Given the description of an element on the screen output the (x, y) to click on. 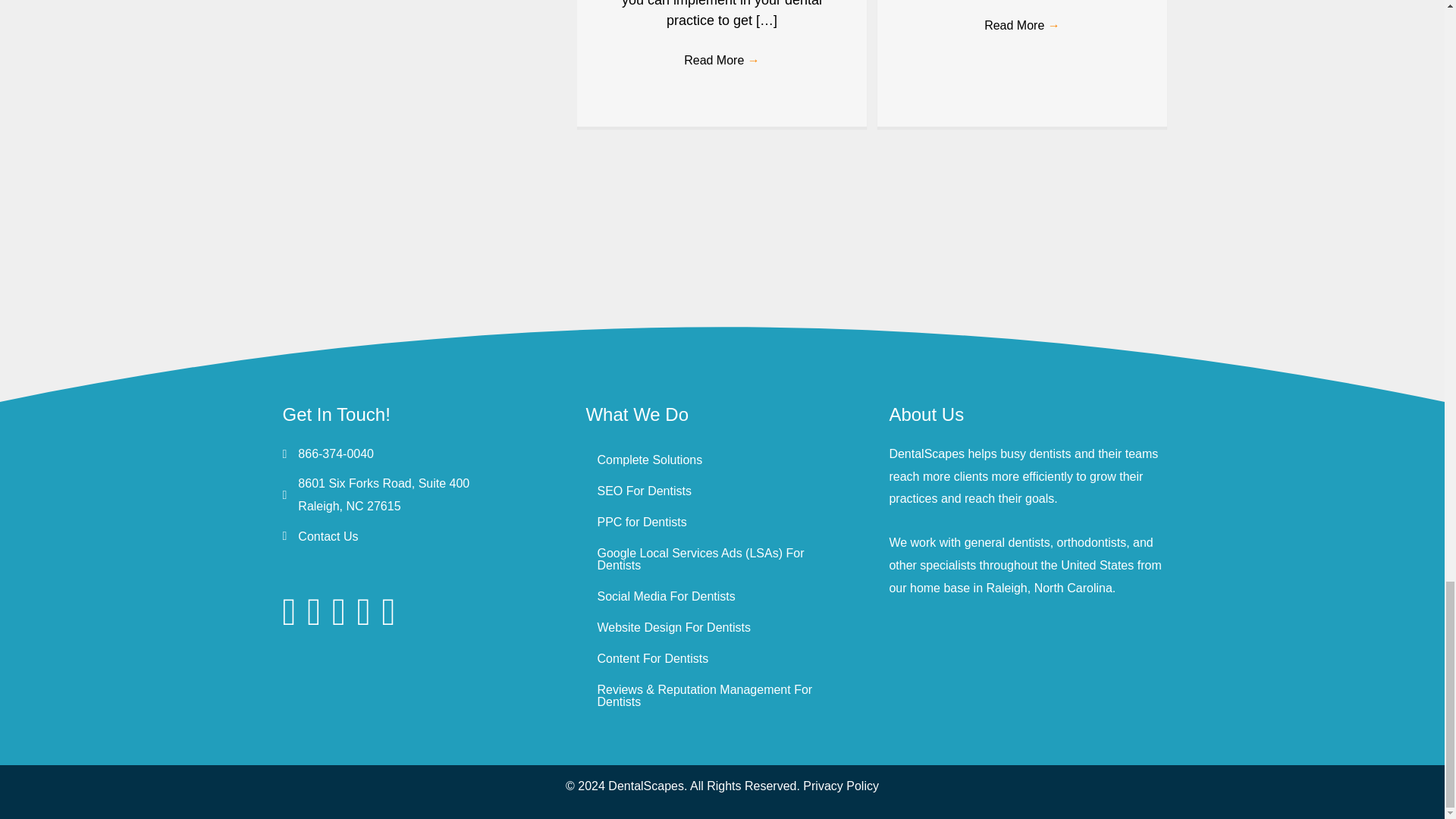
image (357, 244)
Top-Marketing-Agencies-Logo-PNG (721, 245)
Top SEO Agency - Upcity (539, 244)
